Given the description of an element on the screen output the (x, y) to click on. 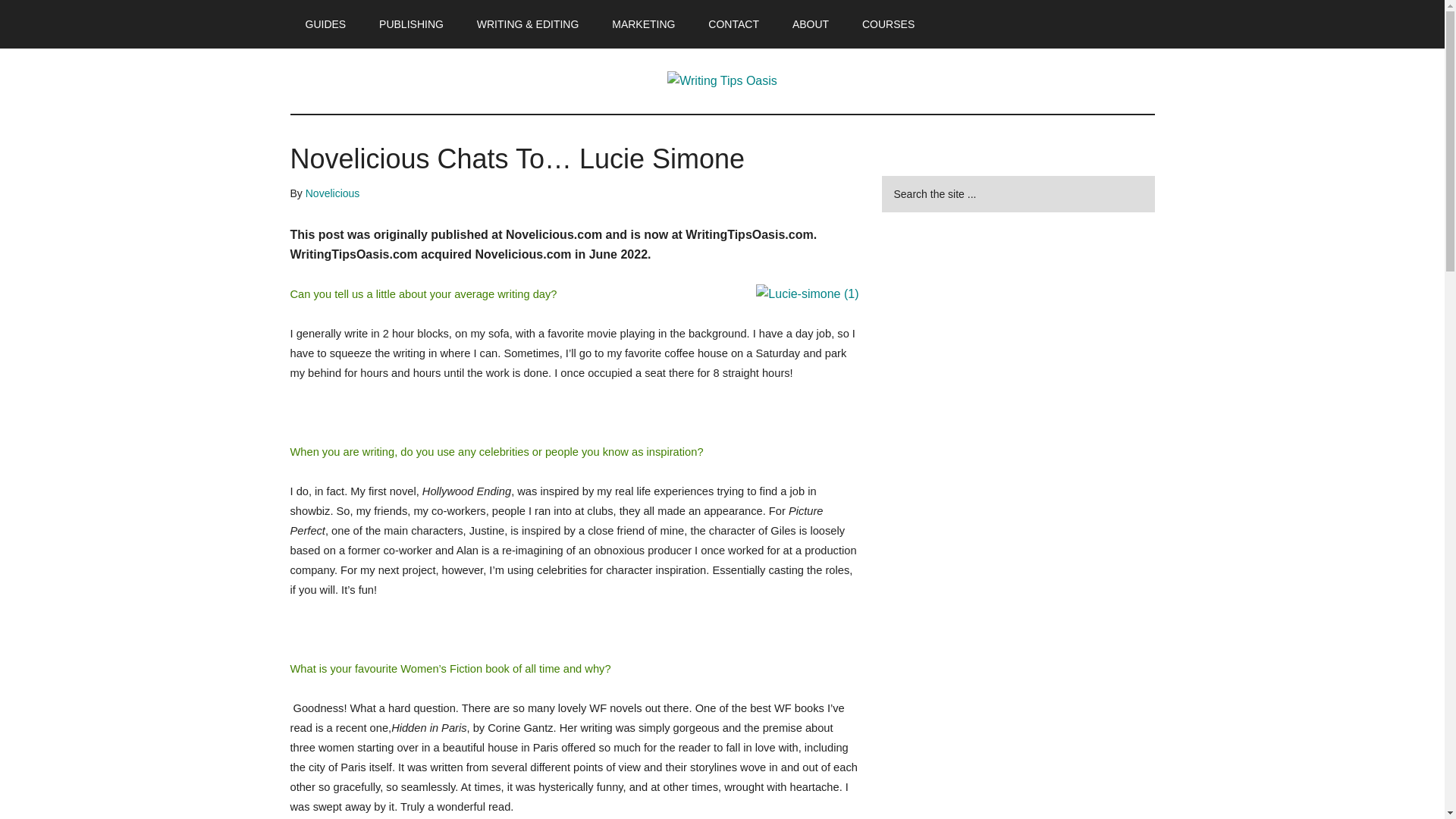
COURSES (888, 24)
GUIDES (325, 24)
ABOUT (810, 24)
MARKETING (643, 24)
Novelicious (332, 193)
CONTACT (733, 24)
PUBLISHING (411, 24)
